Given the description of an element on the screen output the (x, y) to click on. 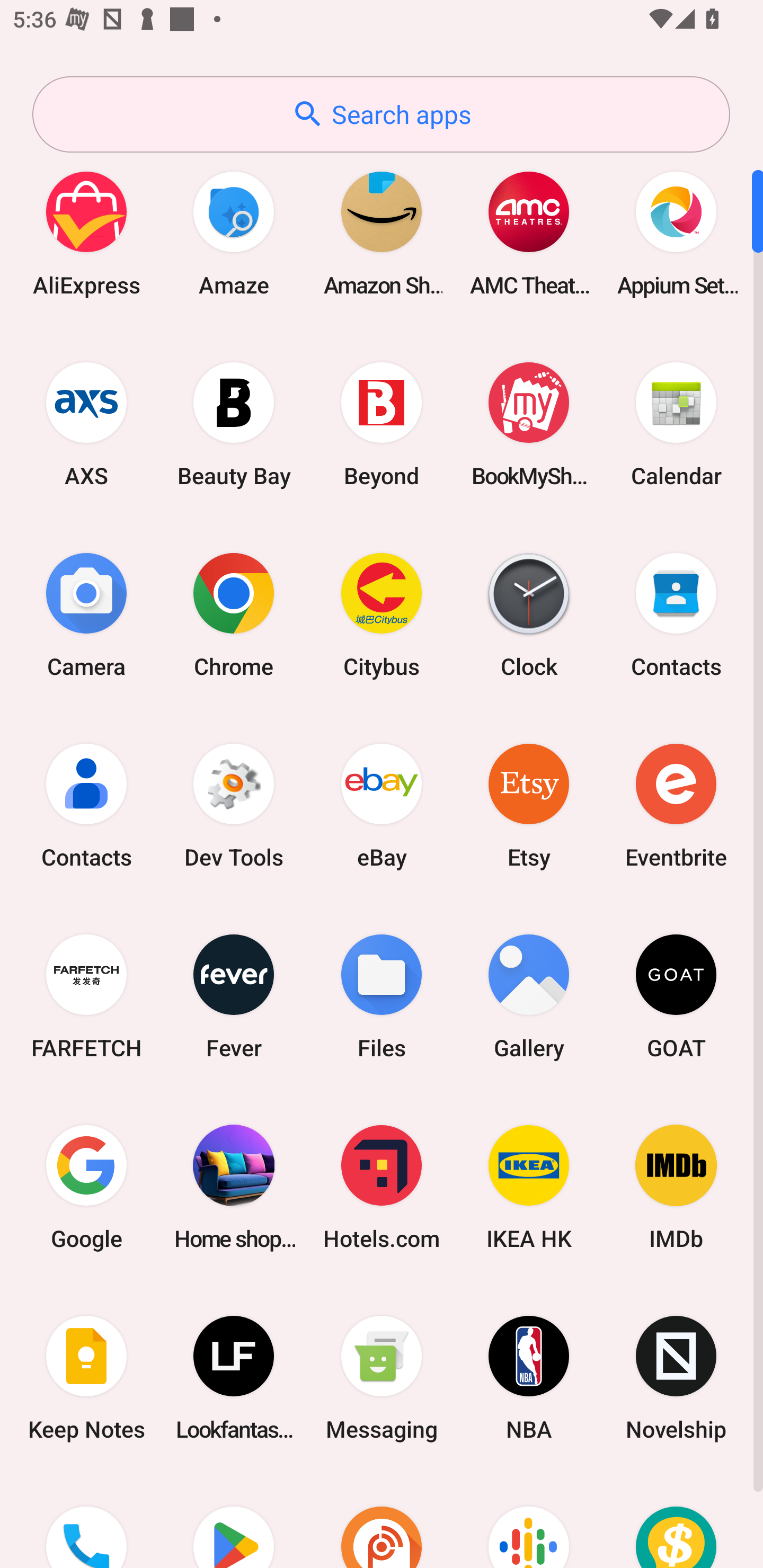
  Search apps (381, 114)
AliExpress (86, 233)
Amaze (233, 233)
Amazon Shopping (381, 233)
AMC Theatres (528, 233)
Appium Settings (676, 233)
AXS (86, 424)
Beauty Bay (233, 424)
Beyond (381, 424)
BookMyShow (528, 424)
Calendar (676, 424)
Camera (86, 614)
Chrome (233, 614)
Citybus (381, 614)
Clock (528, 614)
Contacts (676, 614)
Contacts (86, 805)
Dev Tools (233, 805)
eBay (381, 805)
Etsy (528, 805)
Eventbrite (676, 805)
FARFETCH (86, 996)
Fever (233, 996)
Files (381, 996)
Gallery (528, 996)
GOAT (676, 996)
Google (86, 1186)
Home shopping (233, 1186)
Hotels.com (381, 1186)
IKEA HK (528, 1186)
IMDb (676, 1186)
Keep Notes (86, 1377)
Lookfantastic (233, 1377)
Messaging (381, 1377)
NBA (528, 1377)
Novelship (676, 1377)
Phone (86, 1520)
Play Store (233, 1520)
Podcast Addict (381, 1520)
Podcasts (528, 1520)
Price (676, 1520)
